Given the description of an element on the screen output the (x, y) to click on. 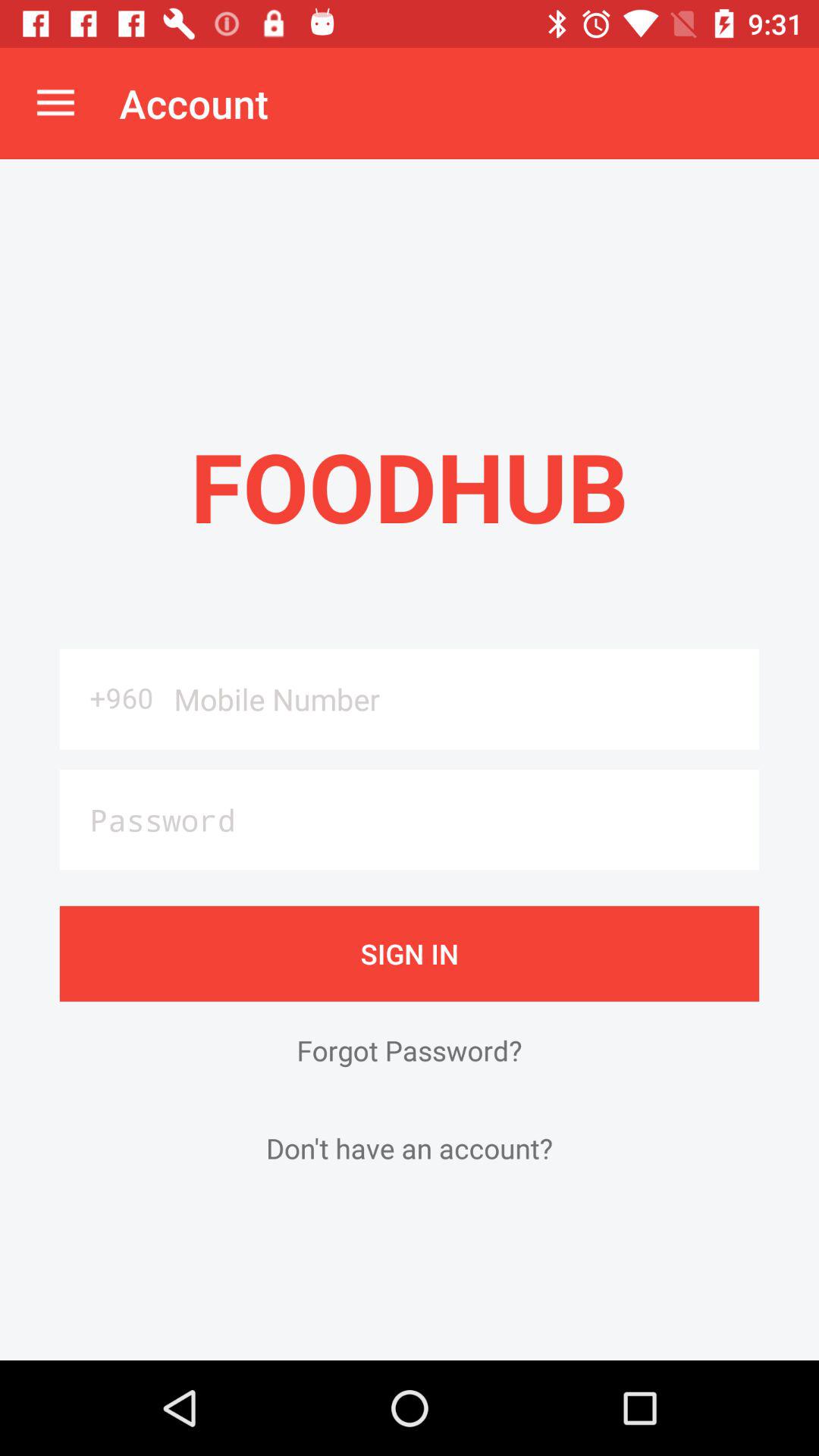
click the icon next to the +960 icon (461, 698)
